Given the description of an element on the screen output the (x, y) to click on. 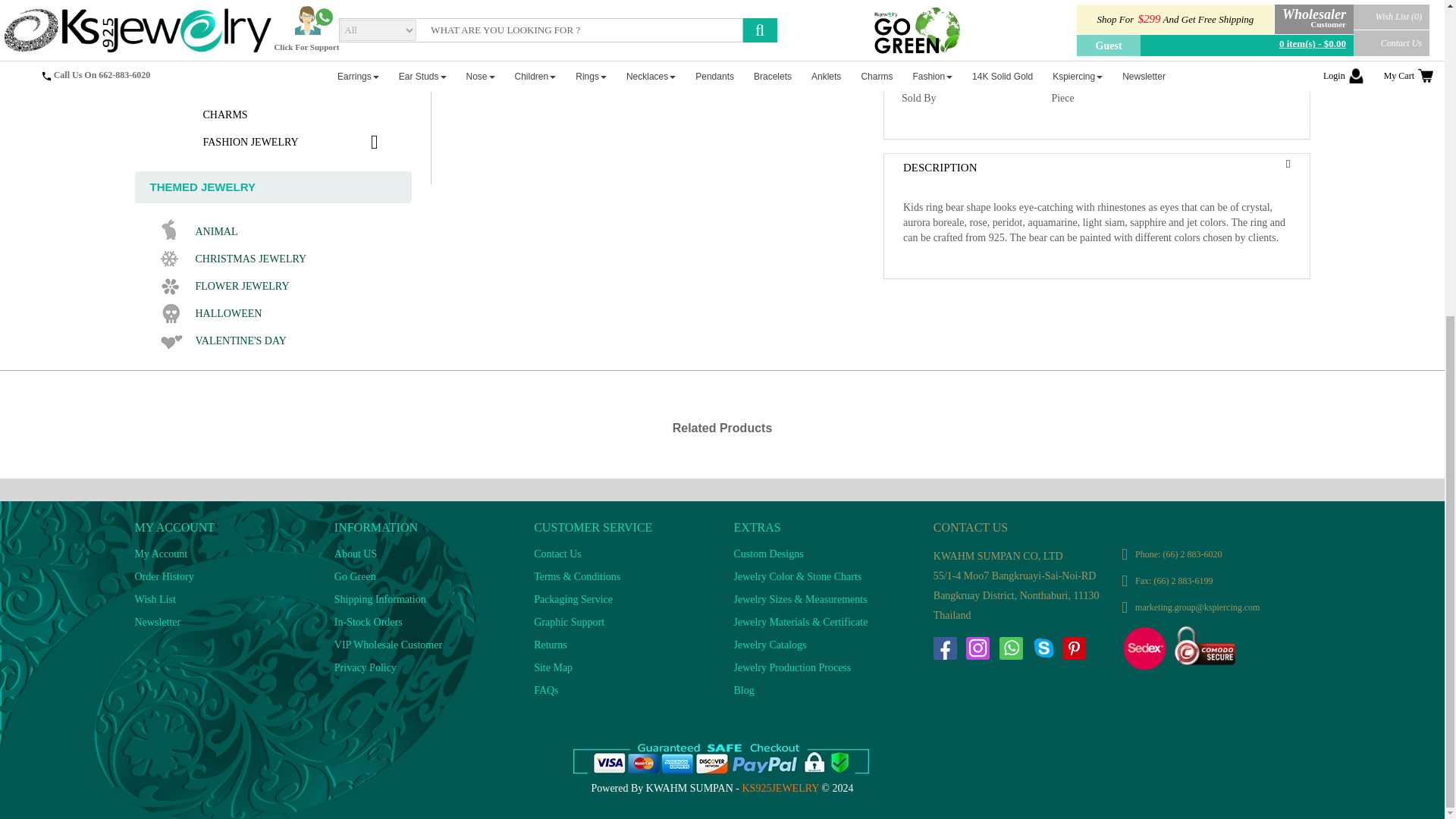
Follow us on Pintrest (1073, 648)
Follow us on Instagram (977, 648)
Follow us on whatsapp (1010, 648)
Follow us on Skype (1043, 648)
Follow us on Facebook (944, 648)
